Given the description of an element on the screen output the (x, y) to click on. 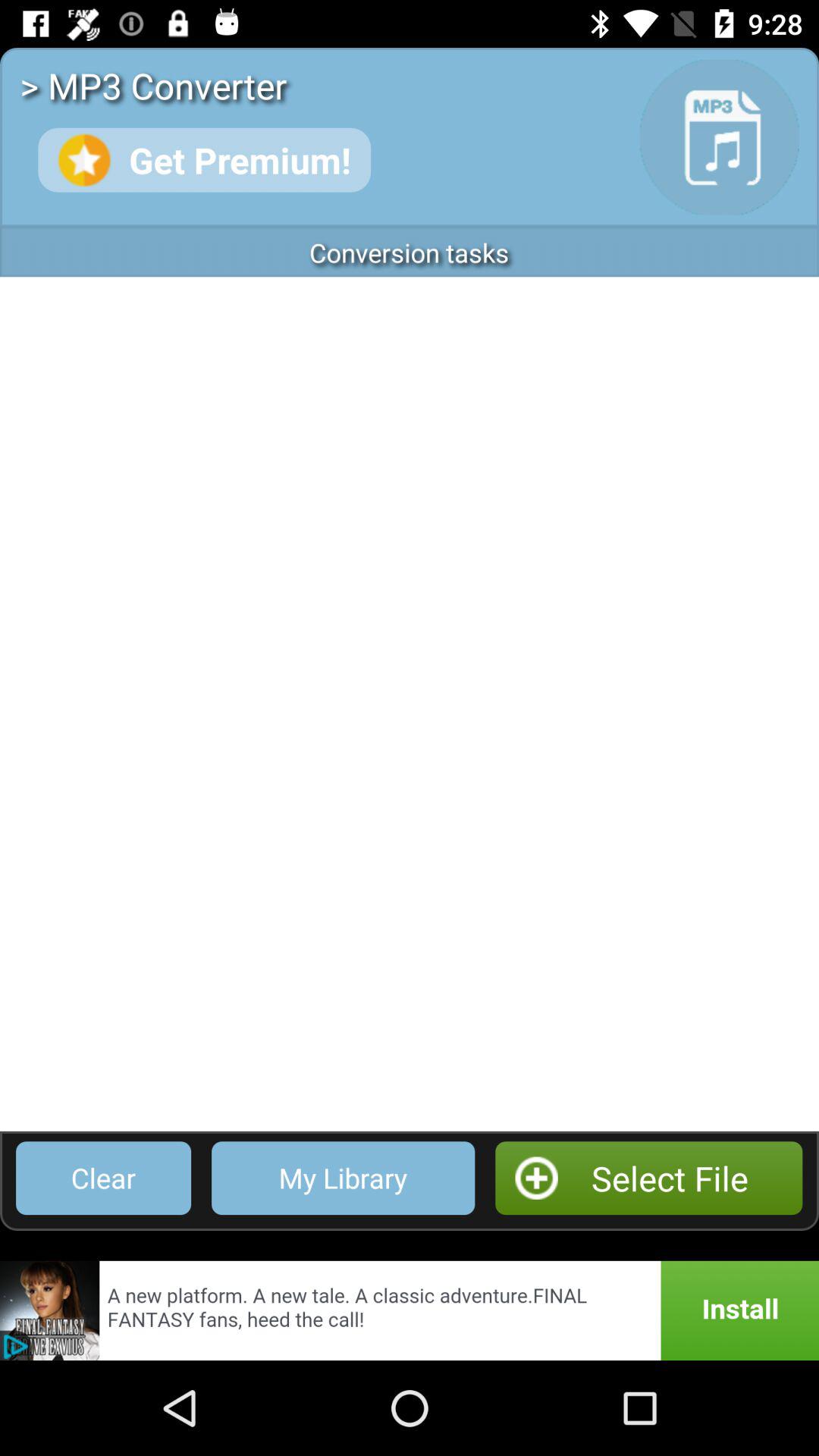
tap icon to the left of select file item (342, 1177)
